Given the description of an element on the screen output the (x, y) to click on. 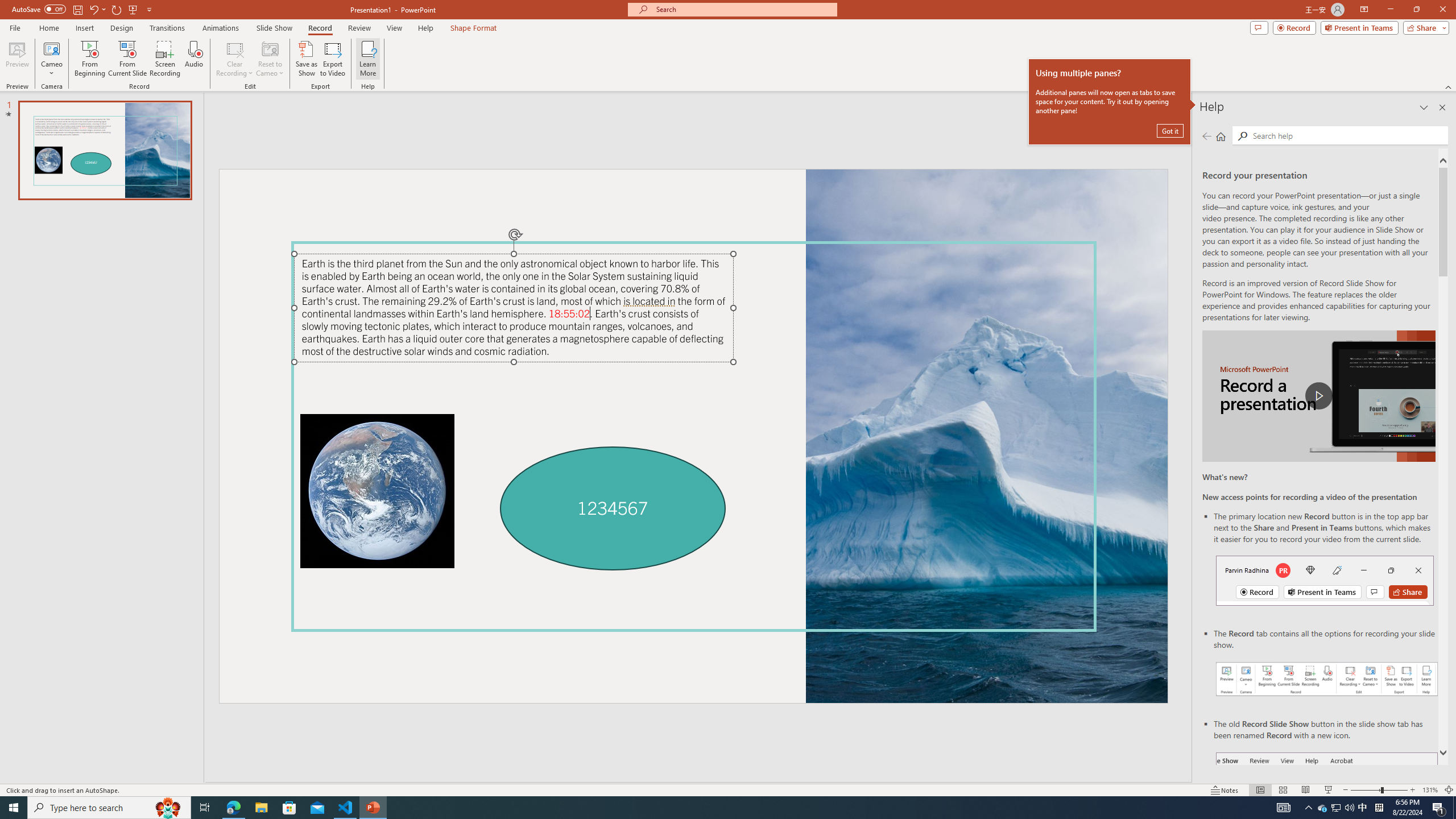
Got it (1170, 130)
Screen Recording (165, 58)
play Record a Presentation (1318, 395)
From Current Slide... (127, 58)
